Given the description of an element on the screen output the (x, y) to click on. 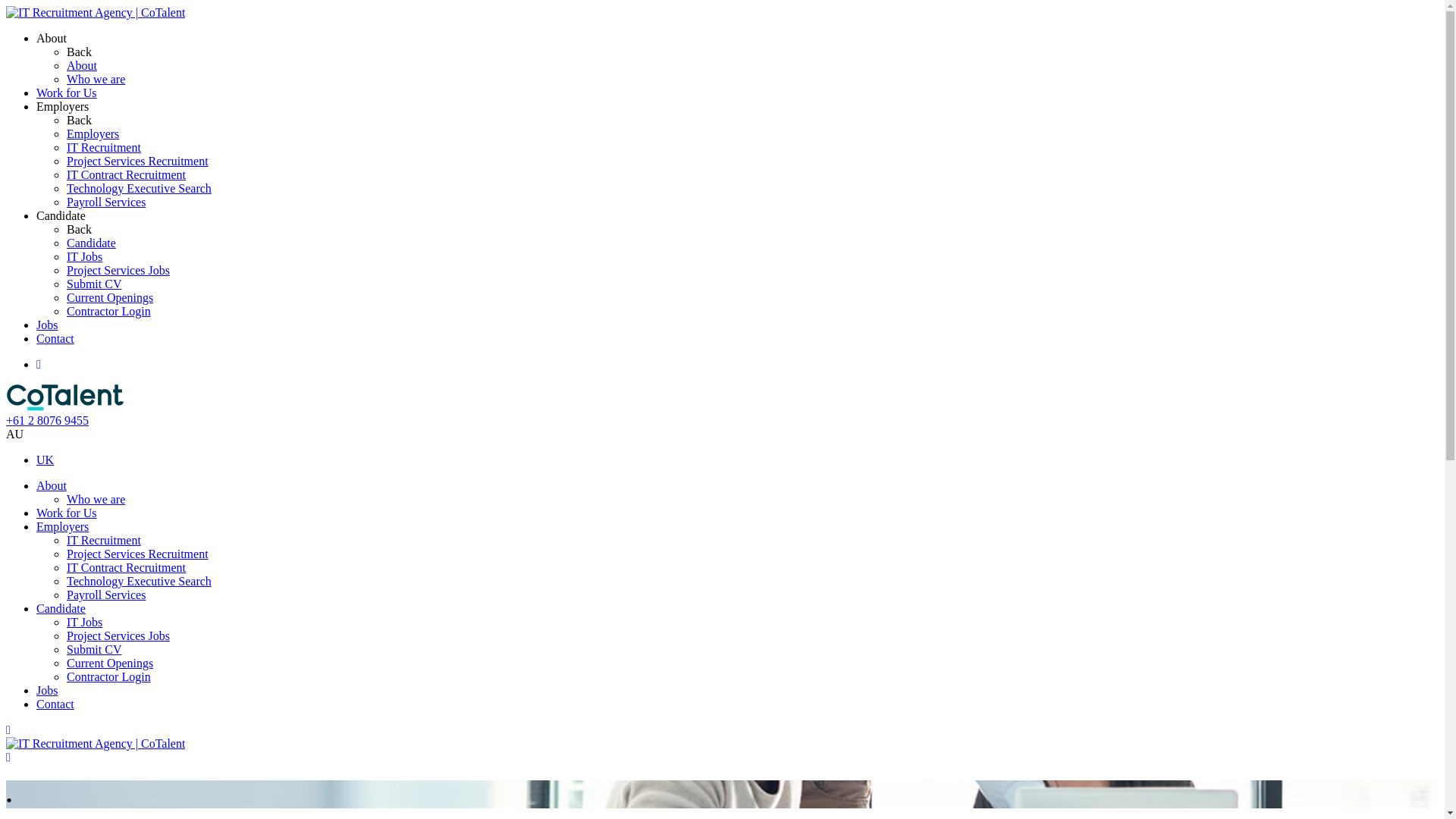
Jobs Element type: text (46, 690)
IT Jobs Element type: text (84, 256)
IT Recruitment Element type: text (103, 147)
UK Element type: text (44, 459)
Submit CV Element type: text (93, 649)
Employers Element type: text (62, 526)
Project Services Jobs Element type: text (117, 269)
Contact Element type: text (55, 338)
About Element type: text (51, 485)
Back Element type: text (78, 51)
Employers Element type: text (92, 133)
Payroll Services Element type: text (105, 201)
Candidate Element type: text (91, 242)
IT Contract Recruitment Element type: text (125, 174)
Work for Us Element type: text (66, 512)
Payroll Services Element type: text (105, 594)
Current Openings Element type: text (109, 662)
Who we are Element type: text (95, 78)
Contact Element type: text (55, 703)
Project Services Jobs Element type: text (117, 635)
Contractor Login Element type: text (108, 310)
Candidate Element type: text (60, 608)
Back Element type: text (78, 119)
Employers Element type: text (62, 106)
IT Recruitment Element type: text (103, 539)
Candidate Element type: text (60, 215)
IT Jobs Element type: text (84, 621)
Who we are Element type: text (95, 498)
Submit CV Element type: text (93, 283)
Work for Us Element type: text (66, 92)
Project Services Recruitment Element type: text (137, 160)
Technology Executive Search Element type: text (138, 188)
+61 2 8076 9455 Element type: text (47, 420)
Jobs Element type: text (46, 324)
Current Openings Element type: text (109, 297)
Technology Executive Search Element type: text (138, 580)
IT Contract Recruitment Element type: text (125, 567)
Project Services Recruitment Element type: text (137, 553)
Click here to view us on Linked In Element type: hover (38, 363)
About Element type: text (81, 65)
Back Element type: text (78, 228)
About Element type: text (51, 37)
Contractor Login Element type: text (108, 676)
